Given the description of an element on the screen output the (x, y) to click on. 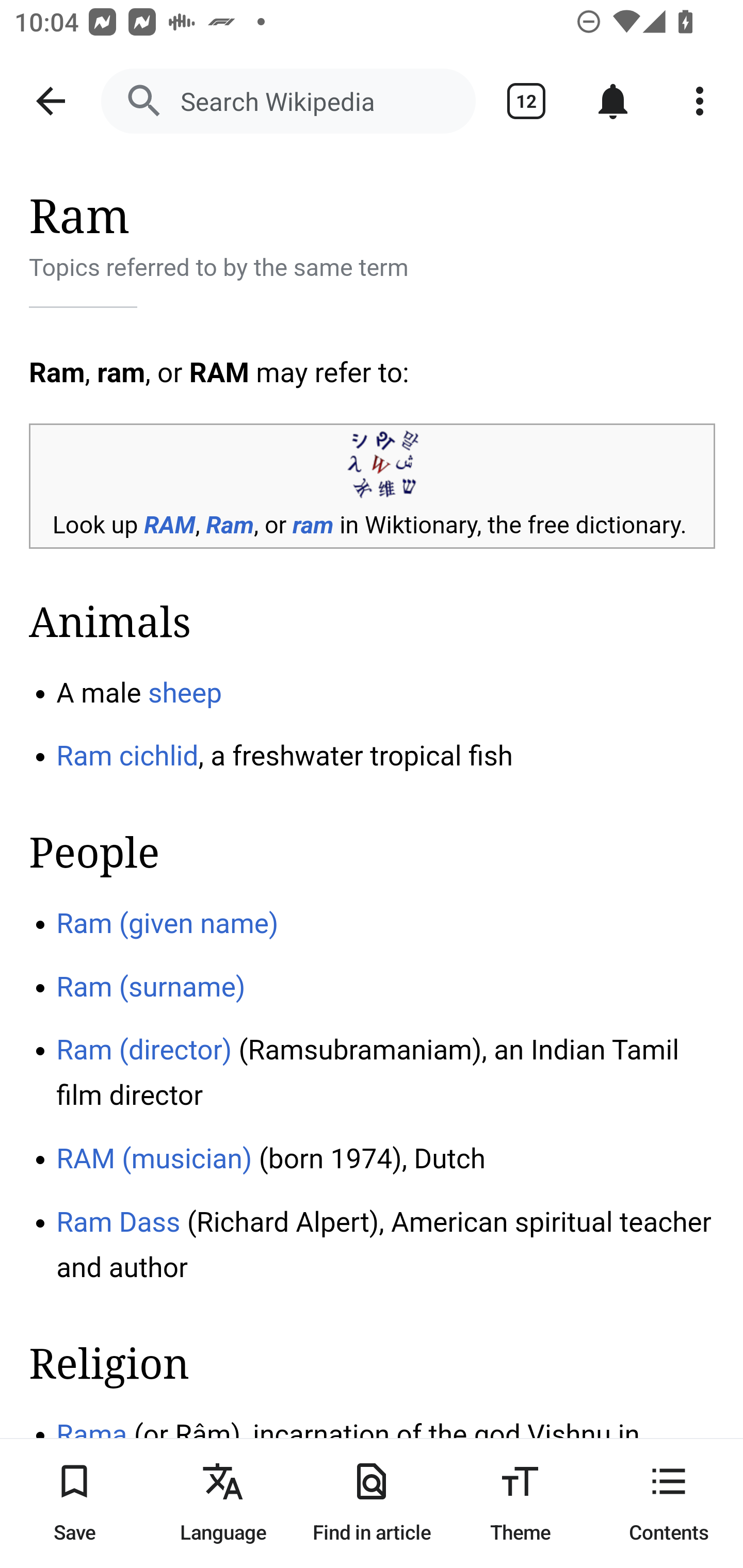
Show tabs 12 (525, 100)
Notifications (612, 100)
Navigate up (50, 101)
More options (699, 101)
Search Wikipedia (288, 100)
RAM (169, 525)
Ram (229, 525)
ram (312, 525)
sheep (184, 691)
Ram cichlid (127, 757)
Ram (given name) (167, 923)
Ram (surname) (150, 986)
Ram (director) (143, 1049)
RAM (musician) (153, 1157)
Ram Dass (118, 1221)
Save (74, 1502)
Language (222, 1502)
Find in article (371, 1502)
Theme (519, 1502)
Contents (668, 1502)
